Given the description of an element on the screen output the (x, y) to click on. 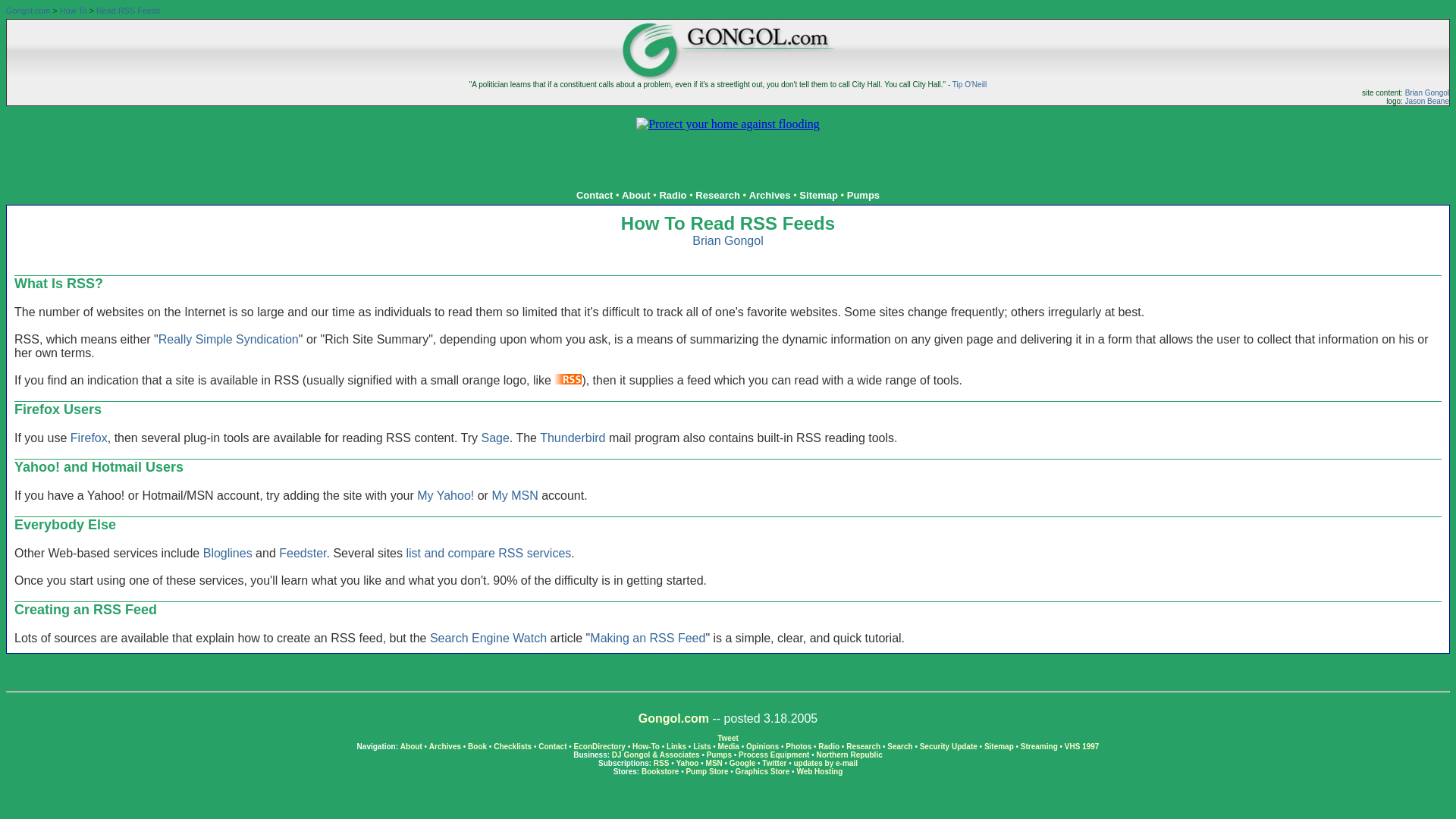
Search Engine Watch (488, 637)
Media (728, 746)
Lists (701, 746)
Really Simple Syndication (228, 338)
Gongol.com (674, 717)
Thunderbird (572, 437)
Read RSS Feeds (128, 10)
My Yahoo! (445, 495)
Archives (769, 194)
Links (675, 746)
